Given the description of an element on the screen output the (x, y) to click on. 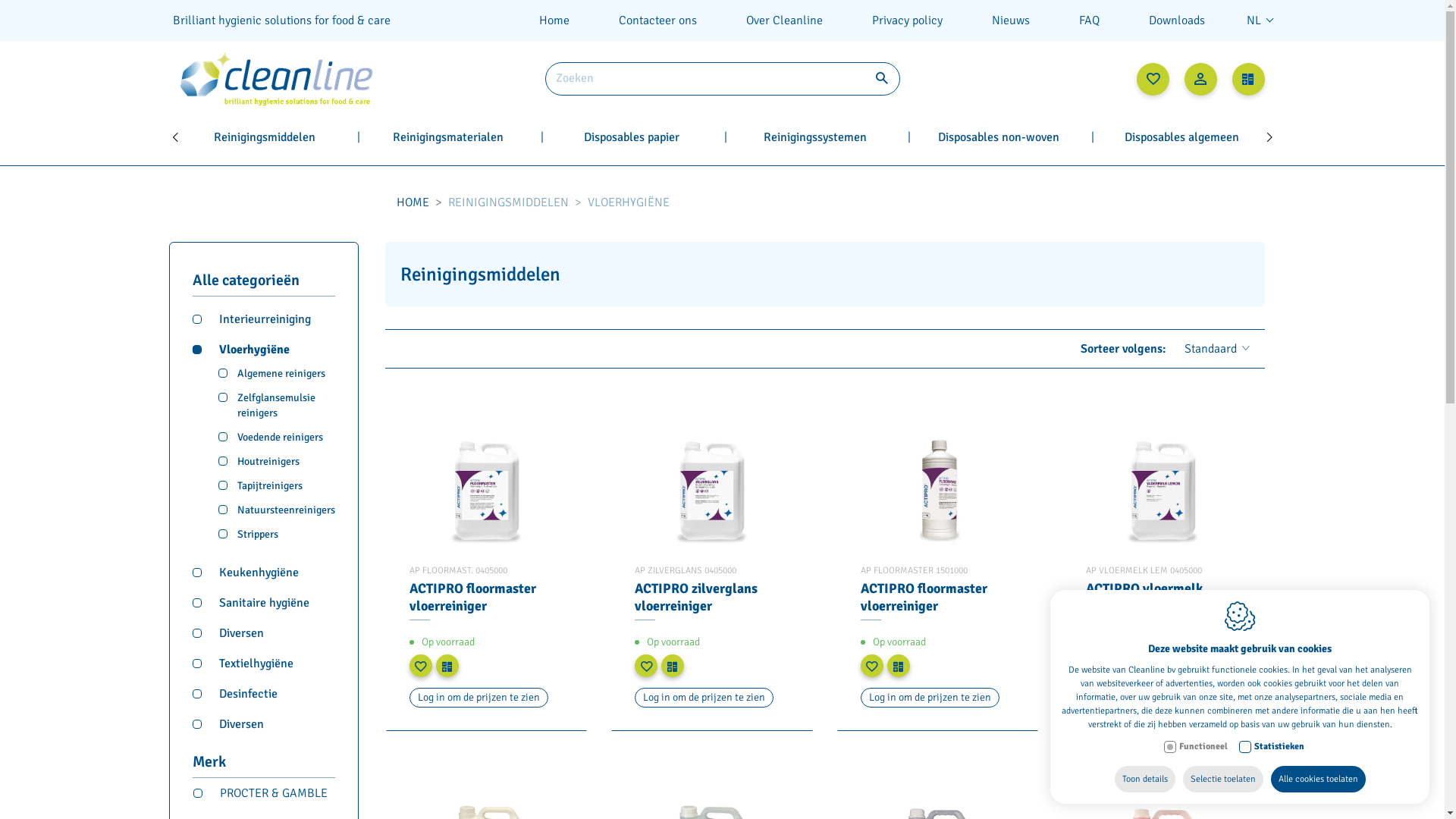
Disposables algemeen Element type: text (1181, 136)
Toevoegen aan favorieten Element type: hover (645, 665)
Toevoegen aan offertemandje Element type: hover (898, 665)
Toevoegen aan favorieten Element type: hover (1096, 665)
Toevoegen aan offertemandje Element type: hover (1123, 665)
Voedende reinigers Element type: text (276, 432)
Interieurreiniging Element type: text (263, 311)
Natuursteenreinigers Element type: text (276, 505)
Home Element type: text (554, 20)
Toevoegen aan favorieten Element type: hover (420, 665)
Zoeken Element type: hover (881, 78)
Desinfectie Element type: text (263, 686)
Alle cookies toelaten Element type: text (1317, 778)
Disposables papier Element type: text (631, 136)
Strippers Element type: text (276, 529)
HOME Element type: text (411, 201)
Toevoegen aan offertemandje Element type: hover (672, 665)
Over Cleanline Element type: text (783, 20)
Privacy policy Element type: text (906, 20)
Toevoegen aan favorieten Element type: hover (870, 665)
Selectie toelaten Element type: text (1223, 778)
Reinigingsmiddelen Element type: text (264, 136)
NL Element type: text (1259, 20)
Reinigingsmaterialen Element type: text (447, 136)
Zelfglansemulsie reinigers Element type: text (276, 400)
Downloads Element type: text (1176, 20)
Standaard Element type: text (1216, 348)
FAQ Element type: text (1089, 20)
Algemene reinigers Element type: text (276, 369)
Houtreinigers Element type: text (276, 457)
Disposables non-woven Element type: text (997, 136)
Tapijtreinigers Element type: text (276, 481)
Contacteer ons Element type: text (656, 20)
Toevoegen aan offertemandje Element type: hover (446, 665)
Diversen Element type: text (263, 716)
Reinigingssystemen Element type: text (814, 136)
Diversen Element type: text (263, 625)
Nieuws Element type: text (1009, 20)
